Given the description of an element on the screen output the (x, y) to click on. 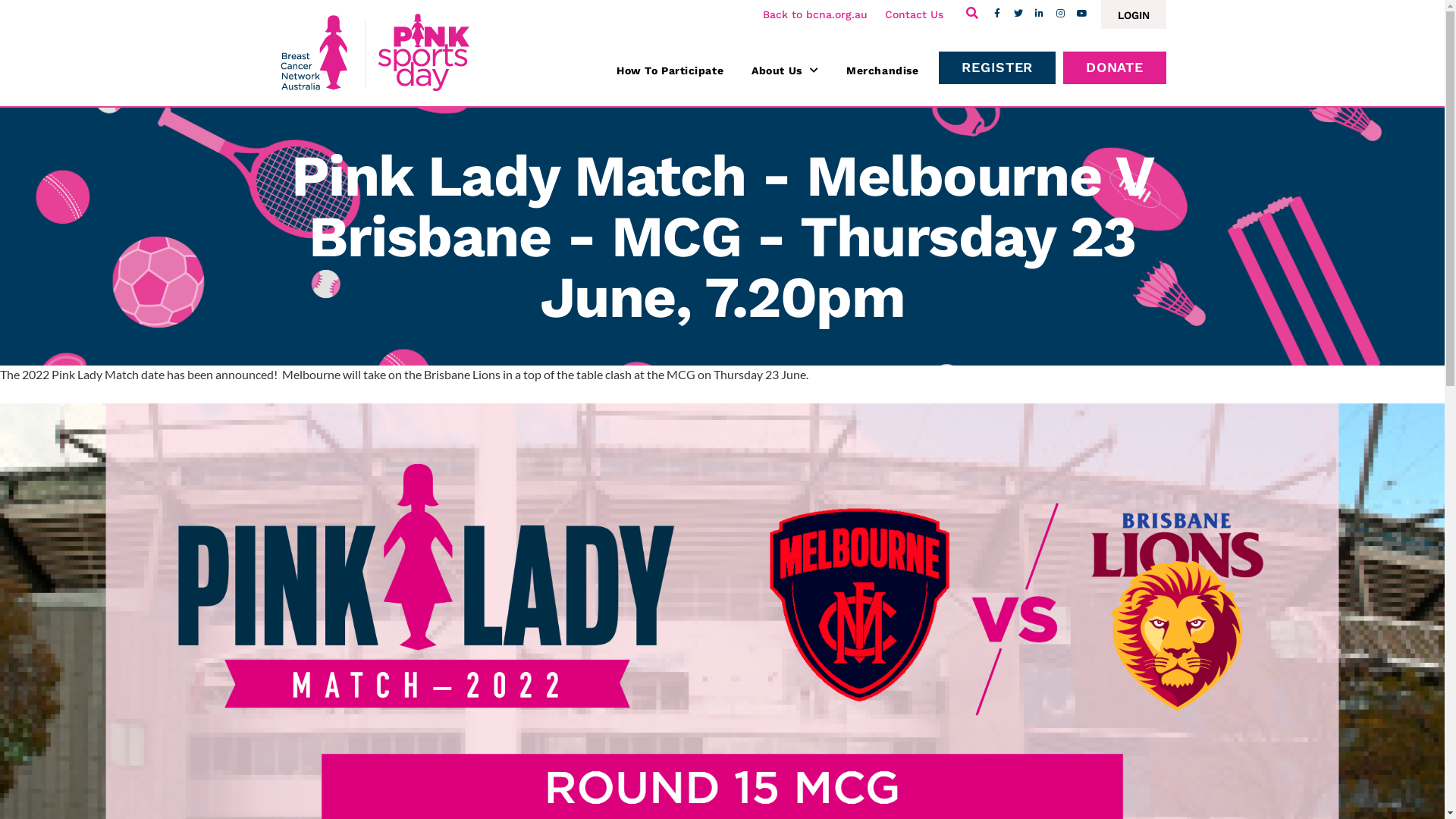
REGISTER Element type: text (996, 67)
Contact Us Element type: text (913, 14)
DONATE Element type: text (1114, 67)
LOGIN Element type: text (1133, 14)
Back to bcna.org.au Element type: text (814, 14)
About Us Element type: text (784, 70)
How To Participate Element type: text (669, 70)
Merchandise Element type: text (882, 70)
